Given the description of an element on the screen output the (x, y) to click on. 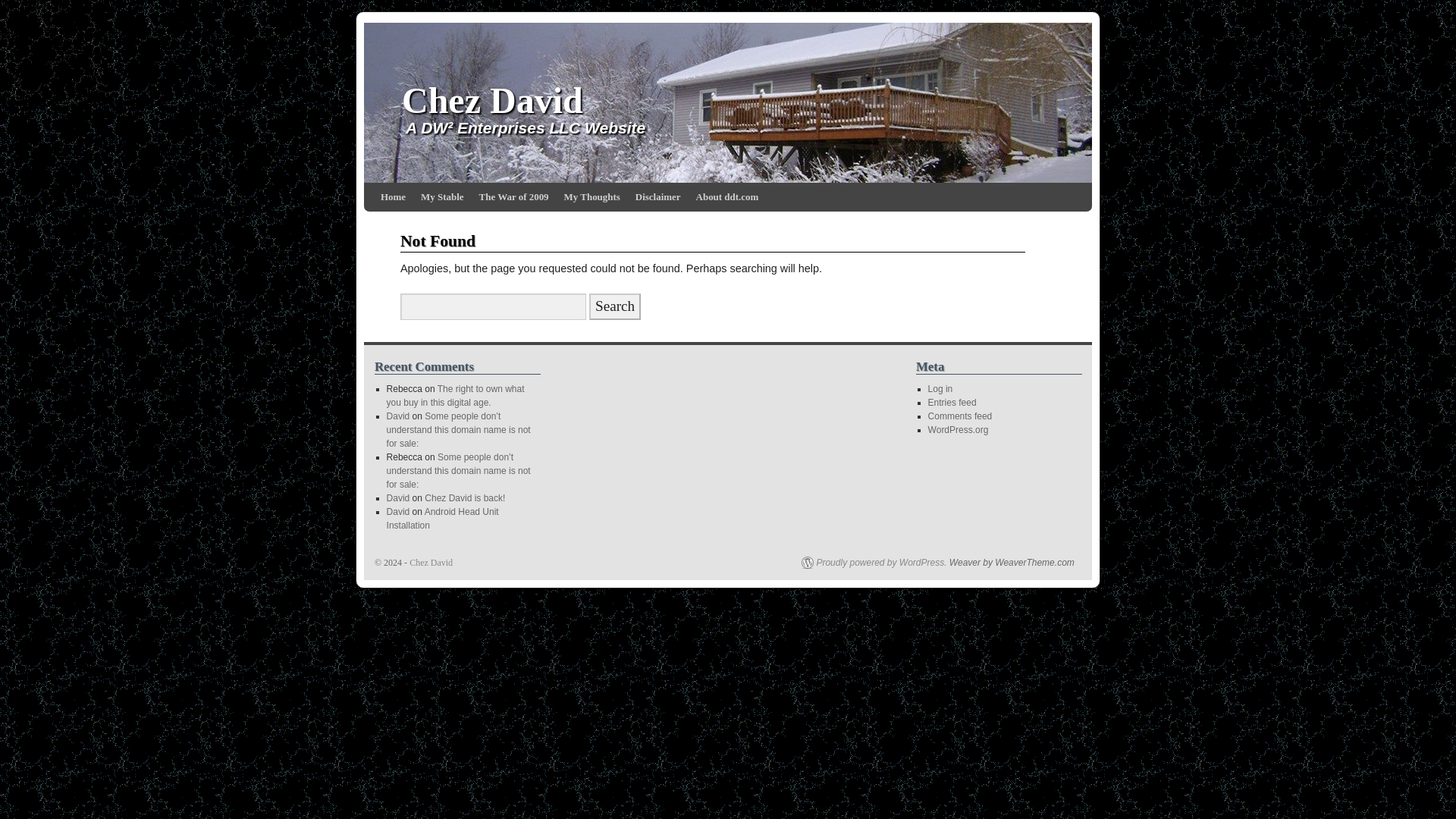
David (398, 416)
Home (392, 196)
David (398, 498)
Comments feed (960, 416)
Entries feed (952, 402)
The War of 2009 (513, 196)
The right to own what you buy in this digital age. (455, 395)
My Thoughts (591, 196)
Chez David (492, 100)
Chez David (430, 562)
My Stable (442, 196)
Disclaimer (657, 196)
About ddt.com (727, 196)
Search (614, 306)
Semantic Personal Publishing Platform (874, 562)
